Given the description of an element on the screen output the (x, y) to click on. 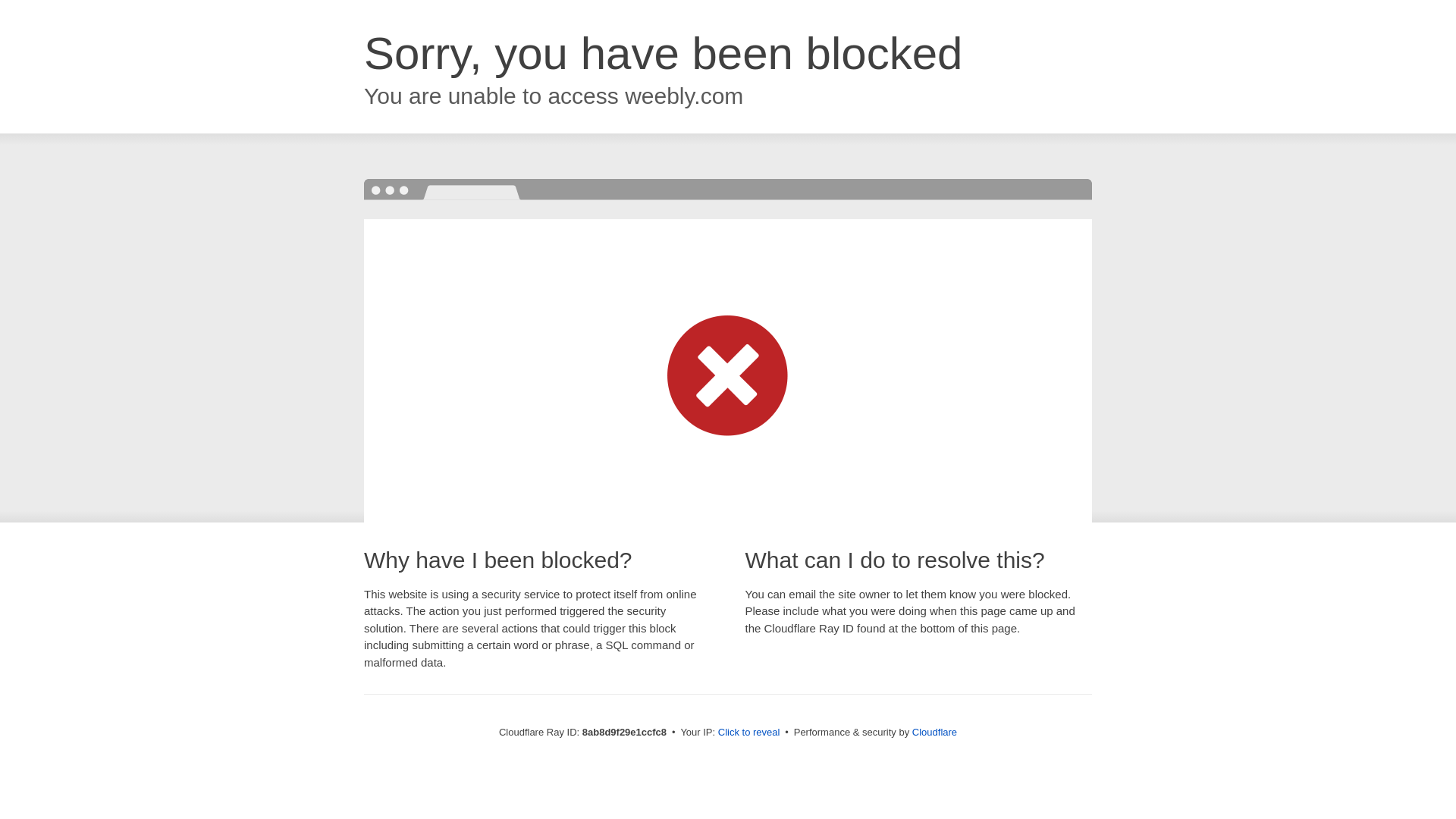
Click to reveal (748, 732)
Cloudflare (934, 731)
